Given the description of an element on the screen output the (x, y) to click on. 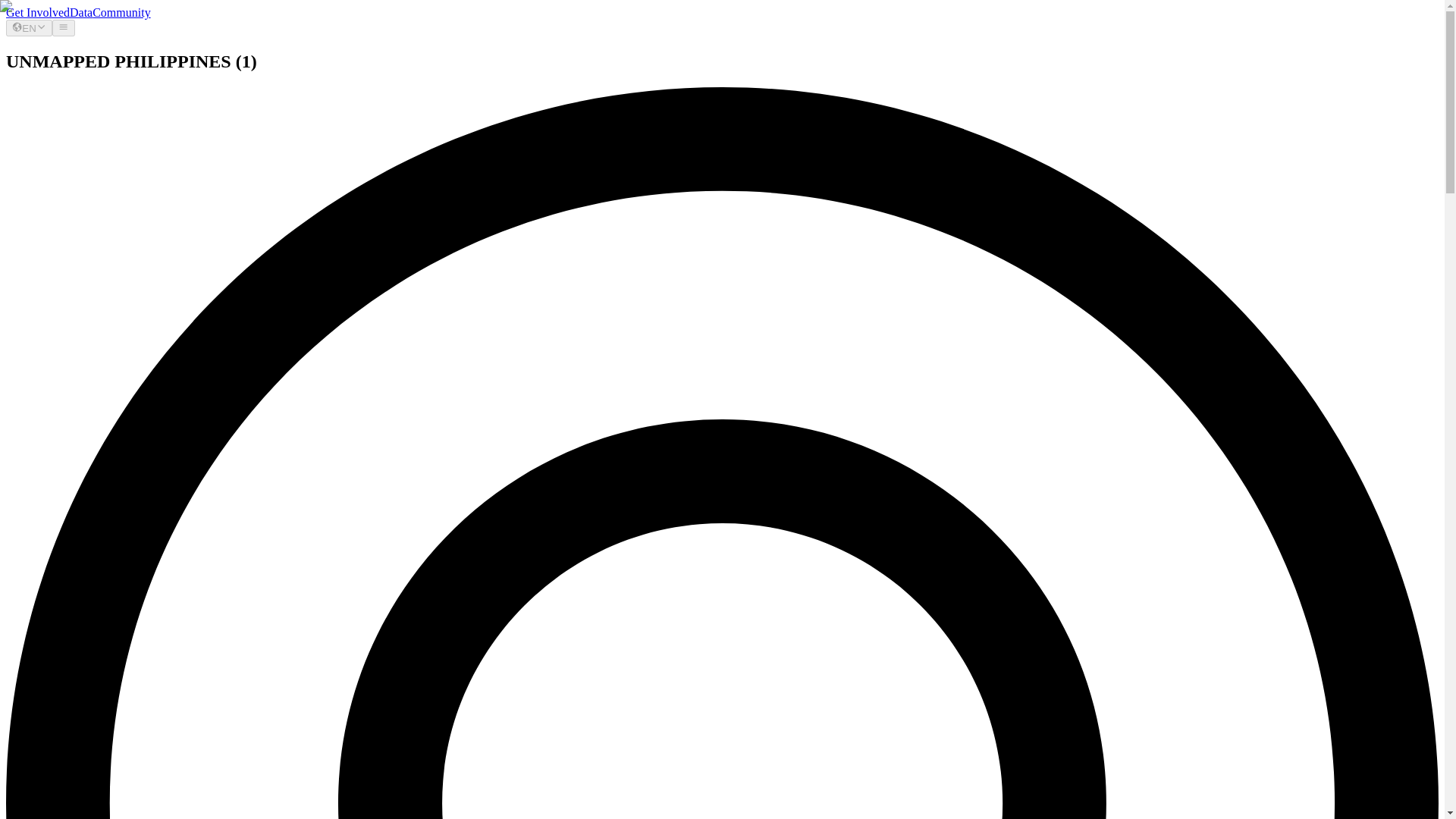
Get Involved (37, 11)
Community (121, 11)
EN (28, 27)
Data (81, 11)
